Given the description of an element on the screen output the (x, y) to click on. 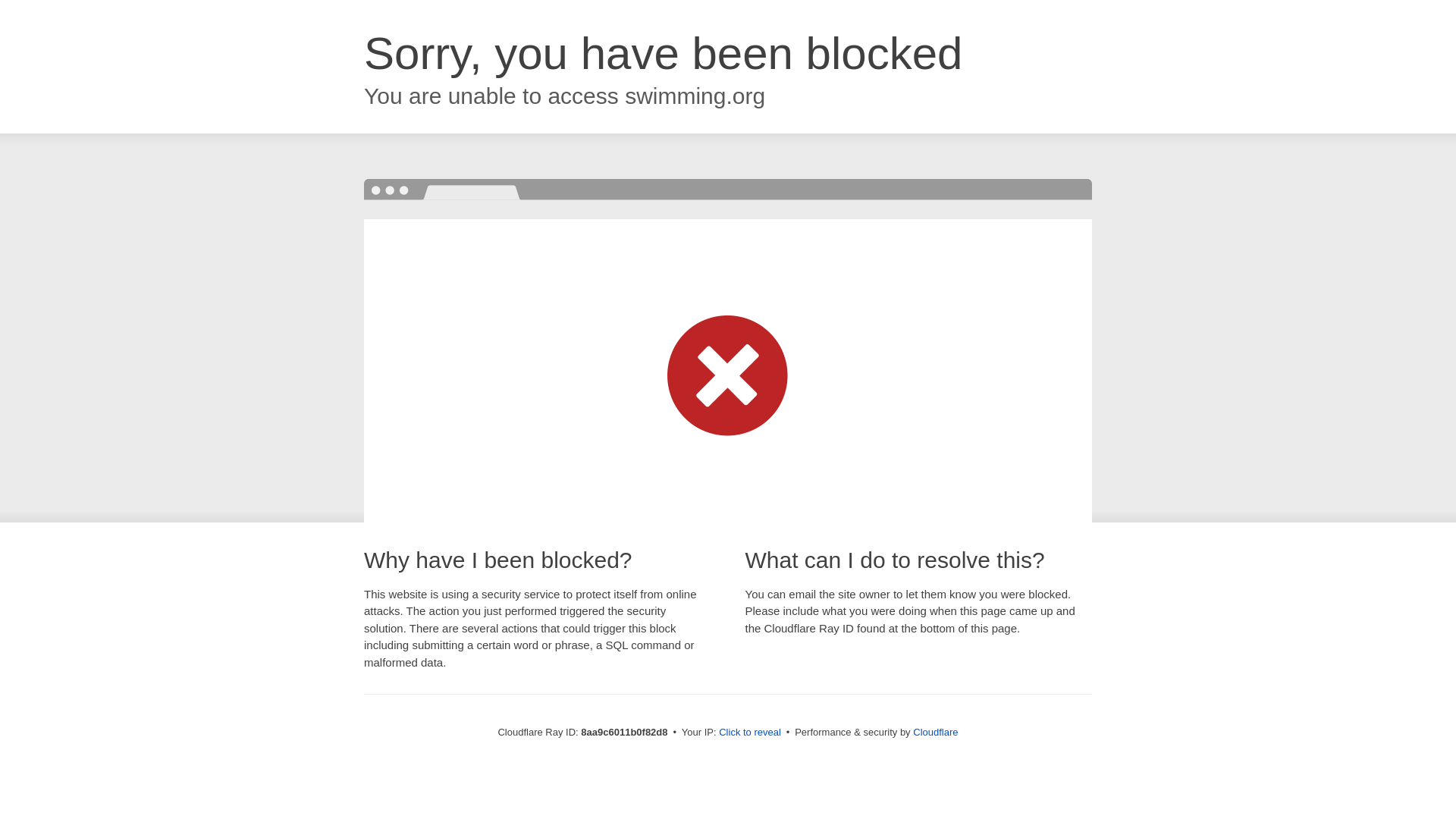
Click to reveal (749, 732)
Cloudflare (935, 731)
